Given the description of an element on the screen output the (x, y) to click on. 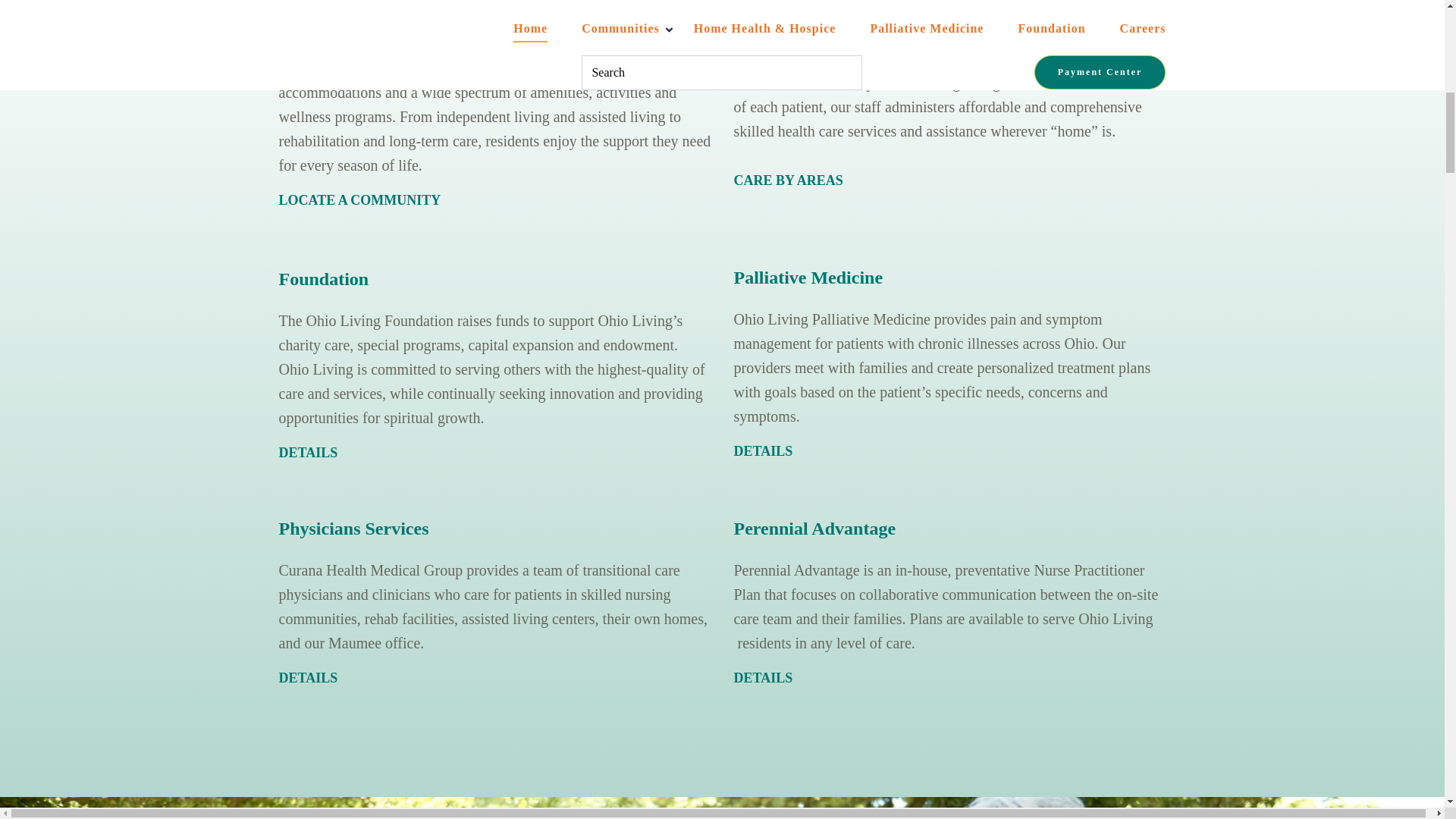
CARE BY AREAS (788, 180)
DETAILS (762, 450)
DETAILS (308, 677)
LOCATE A COMMUNITY (360, 200)
DETAILS (308, 452)
DETAILS (762, 677)
